Given the description of an element on the screen output the (x, y) to click on. 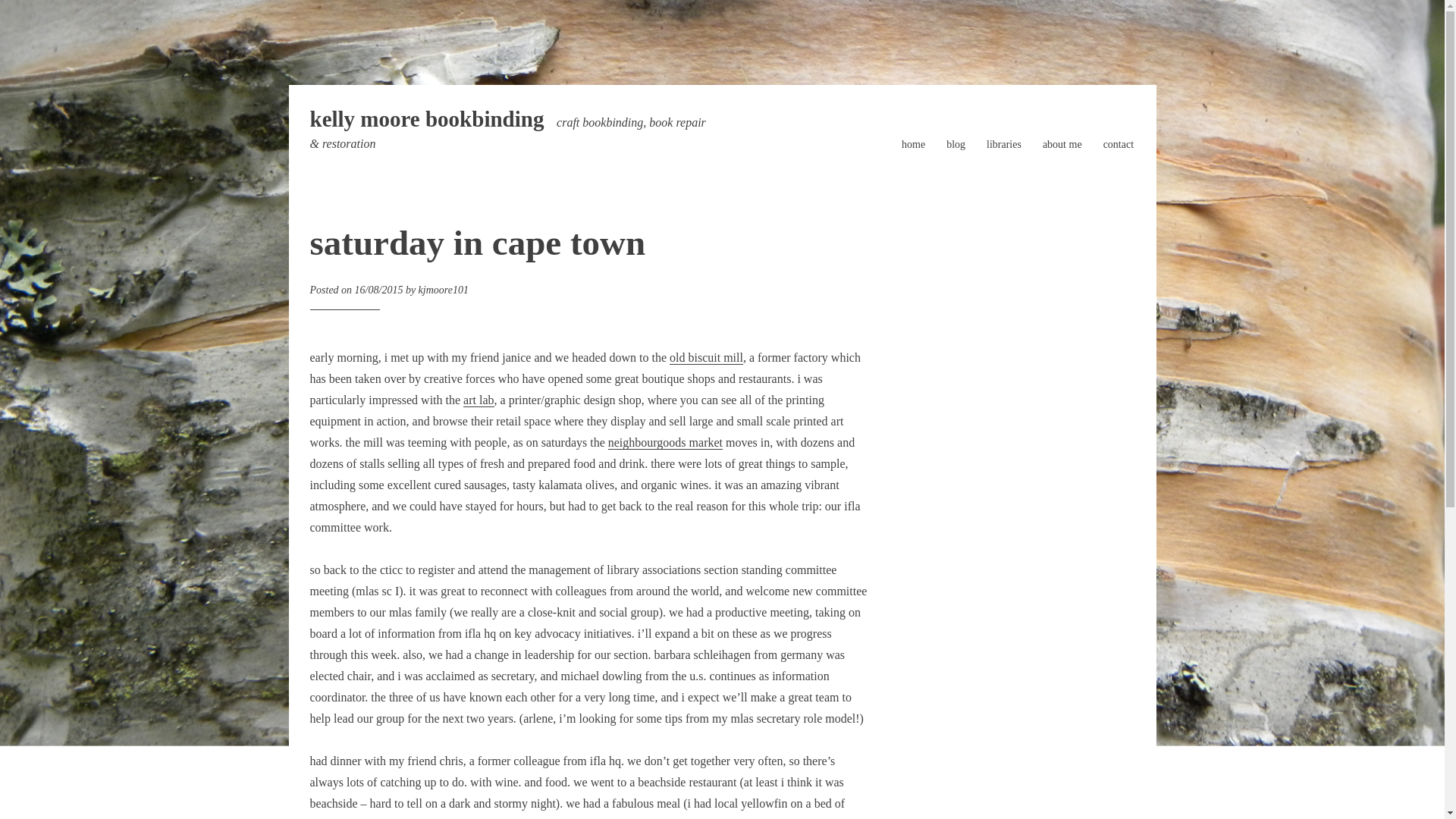
old biscuit mill (705, 357)
home (912, 143)
kjmoore101 (443, 289)
neighbourgoods market (665, 442)
contact (1118, 143)
about me (1061, 143)
blog (955, 143)
kelly moore bookbinding (425, 119)
art lab (478, 400)
